Given the description of an element on the screen output the (x, y) to click on. 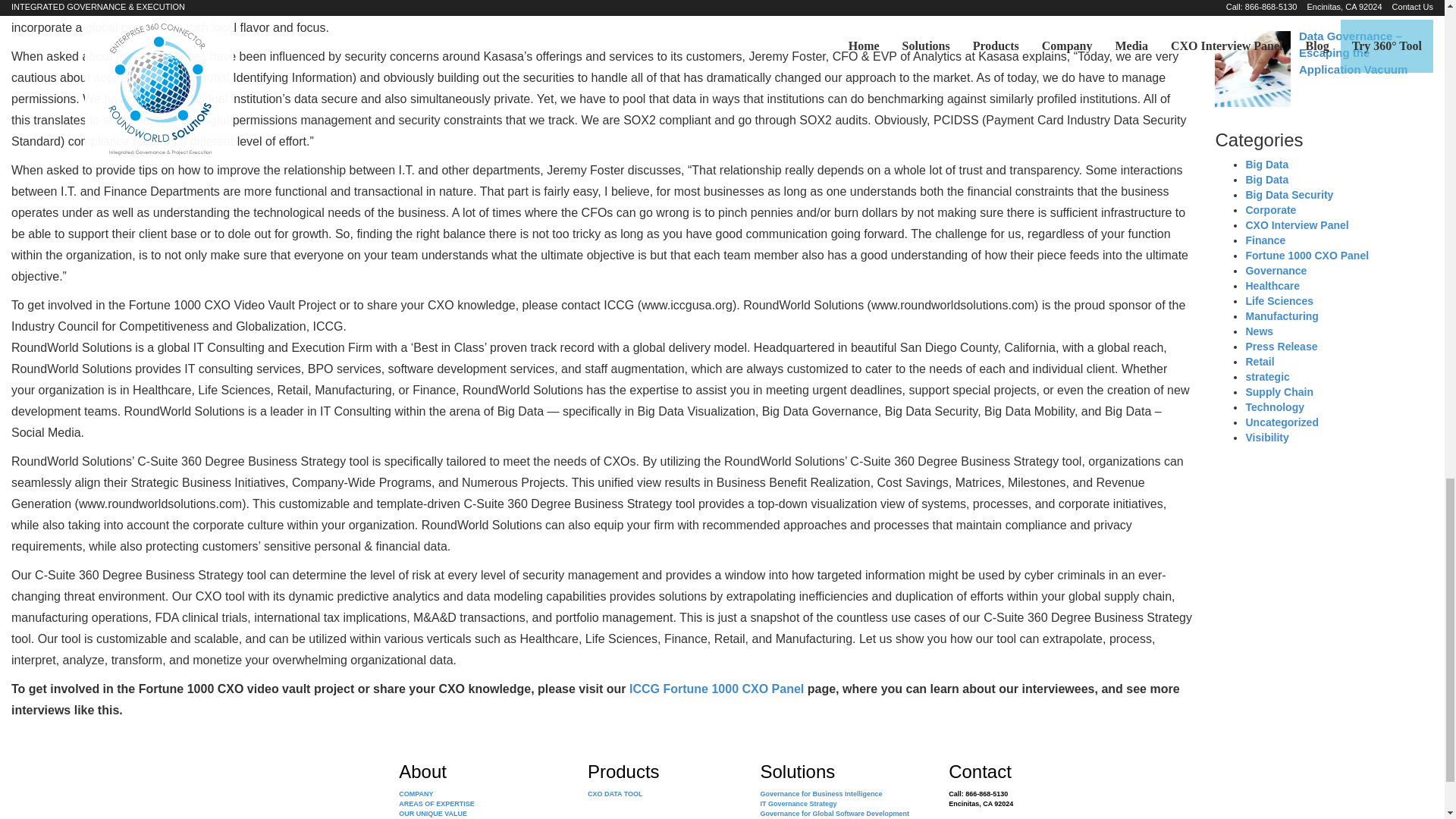
Corporate (1269, 209)
Big Data (1266, 164)
ICCG Fortune 1000 CXO Panel (715, 688)
Press Release (1280, 346)
News (1258, 331)
Finance (1264, 240)
Retail (1259, 361)
Big Data Security (1288, 194)
Life Sciences (1278, 300)
Big Data (1266, 179)
Governance (1275, 270)
CXO Interview Panel (1296, 224)
Manufacturing (1280, 316)
Healthcare (1272, 285)
Fortune 1000 CXO Panel (1306, 255)
